Given the description of an element on the screen output the (x, y) to click on. 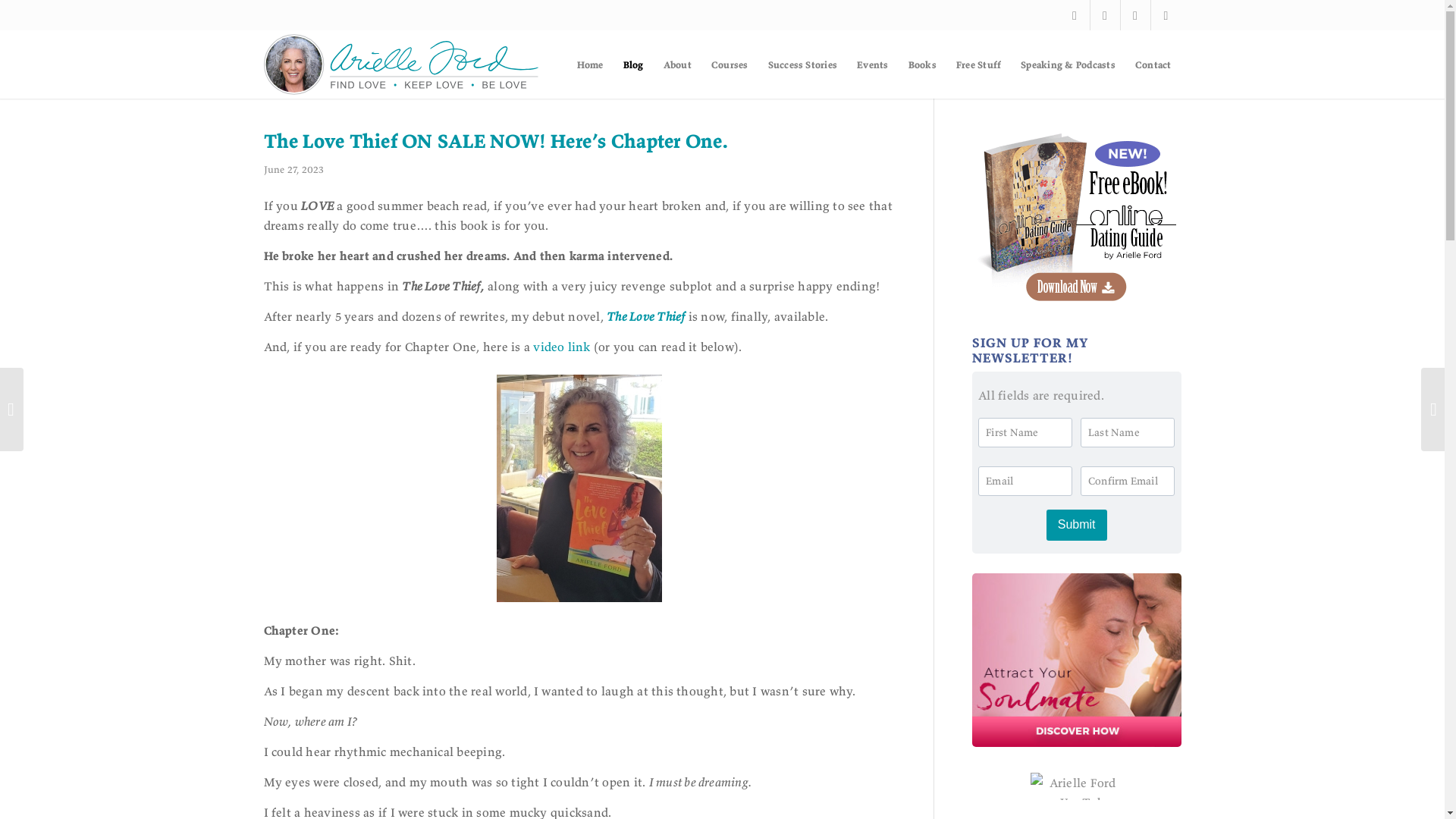
Youtube (1165, 15)
Free Stuff (978, 64)
Instagram (1135, 15)
af-logo (401, 64)
Submit (1076, 524)
af-logo (402, 64)
X (1074, 15)
Facebook (1104, 15)
Success Stories (802, 64)
